Given the description of an element on the screen output the (x, y) to click on. 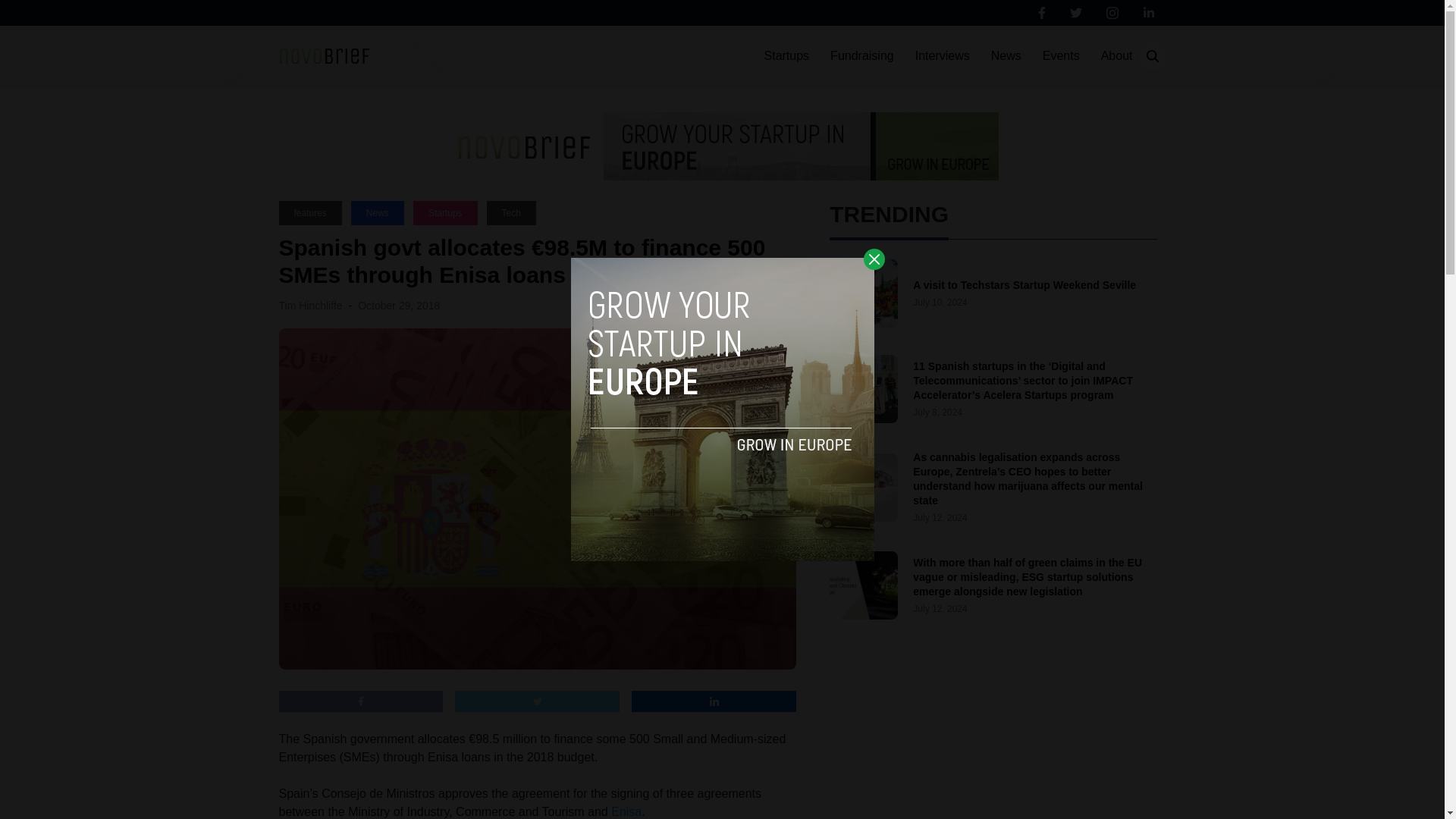
About (1116, 55)
Events (1061, 55)
Startups (786, 55)
Tim Hinchliffe (310, 305)
Enisa (626, 811)
Fundraising (861, 55)
Startups (445, 212)
News (377, 212)
features (310, 212)
Interviews (942, 55)
News (1006, 55)
Tech (510, 212)
